Given the description of an element on the screen output the (x, y) to click on. 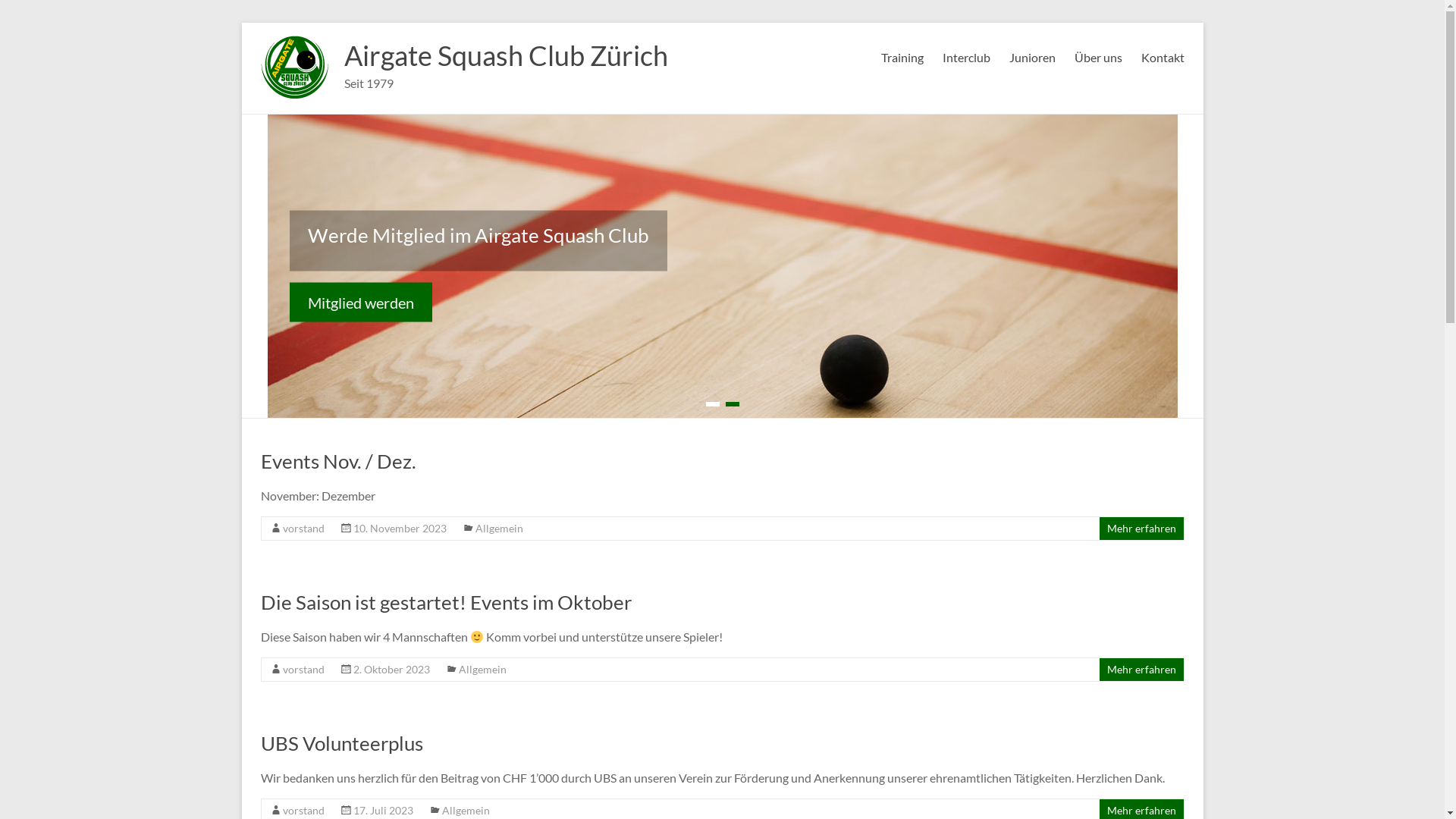
Interclub Element type: text (965, 54)
2 Element type: text (731, 403)
Allgemein Element type: text (498, 527)
Mehr erfahren Element type: text (1141, 809)
UBS Volunteerplus Element type: text (341, 743)
Allgemein Element type: text (465, 809)
Junioren Element type: text (1031, 54)
Mehr erfahren Element type: text (1141, 668)
Mehr erfahren Element type: text (1141, 527)
1 Element type: text (711, 403)
Allgemein Element type: text (481, 668)
vorstand Element type: text (302, 668)
Werde Mitglied im Airgate Squash Club Element type: text (478, 234)
Die Saison ist gestartet! Events im Oktober Element type: text (445, 601)
Mitglied werden Element type: text (360, 301)
17. Juli 2023 Element type: text (383, 809)
10. November 2023 Element type: text (399, 527)
Training Element type: text (902, 54)
vorstand Element type: text (302, 527)
Events Nov. / Dez. Element type: text (338, 460)
2. Oktober 2023 Element type: text (391, 668)
vorstand Element type: text (302, 809)
Kontakt Element type: text (1161, 54)
